Given the description of an element on the screen output the (x, y) to click on. 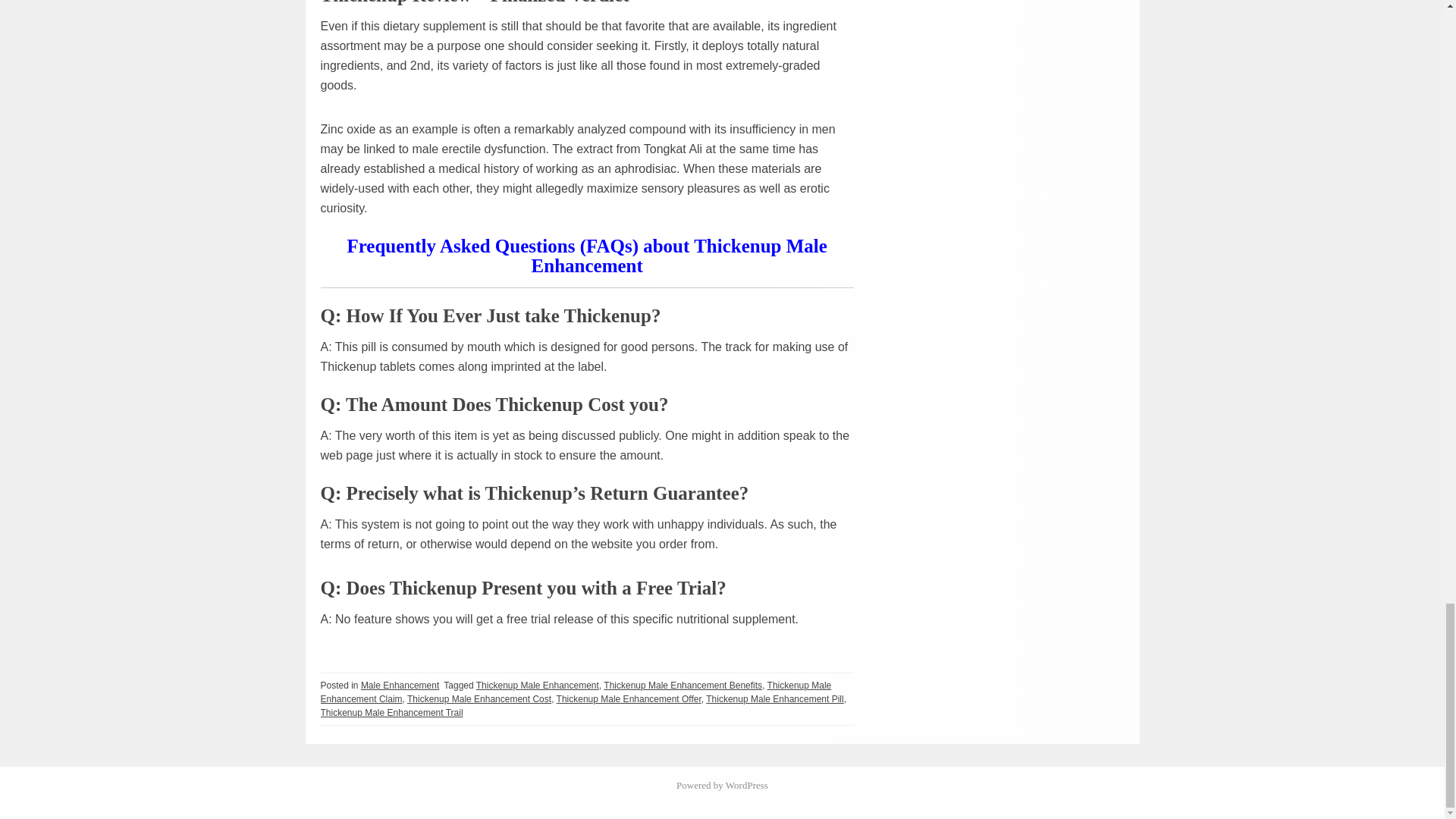
Thickenup Male Enhancement Benefits (682, 684)
Thickenup Male Enhancement Offer (628, 697)
Thickenup Male Enhancement (537, 684)
Thickenup Male Enhancement Claim (575, 691)
Male Enhancement (400, 684)
Thickenup Male Enhancement Pill (774, 697)
Thickenup Male Enhancement Cost (479, 697)
